Given the description of an element on the screen output the (x, y) to click on. 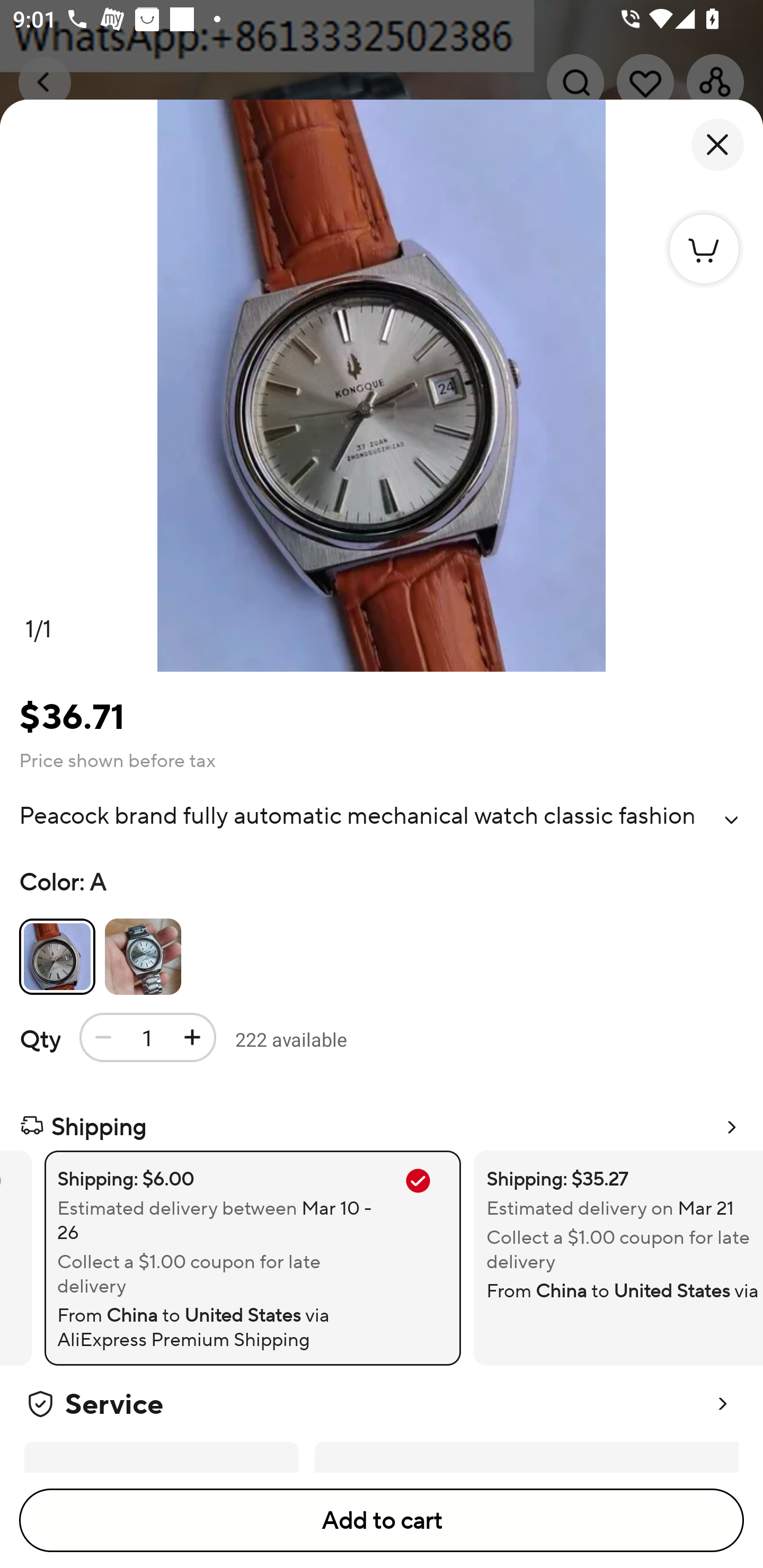
close  (717, 144)
 (730, 819)
Add to cart (381, 1520)
